Given the description of an element on the screen output the (x, y) to click on. 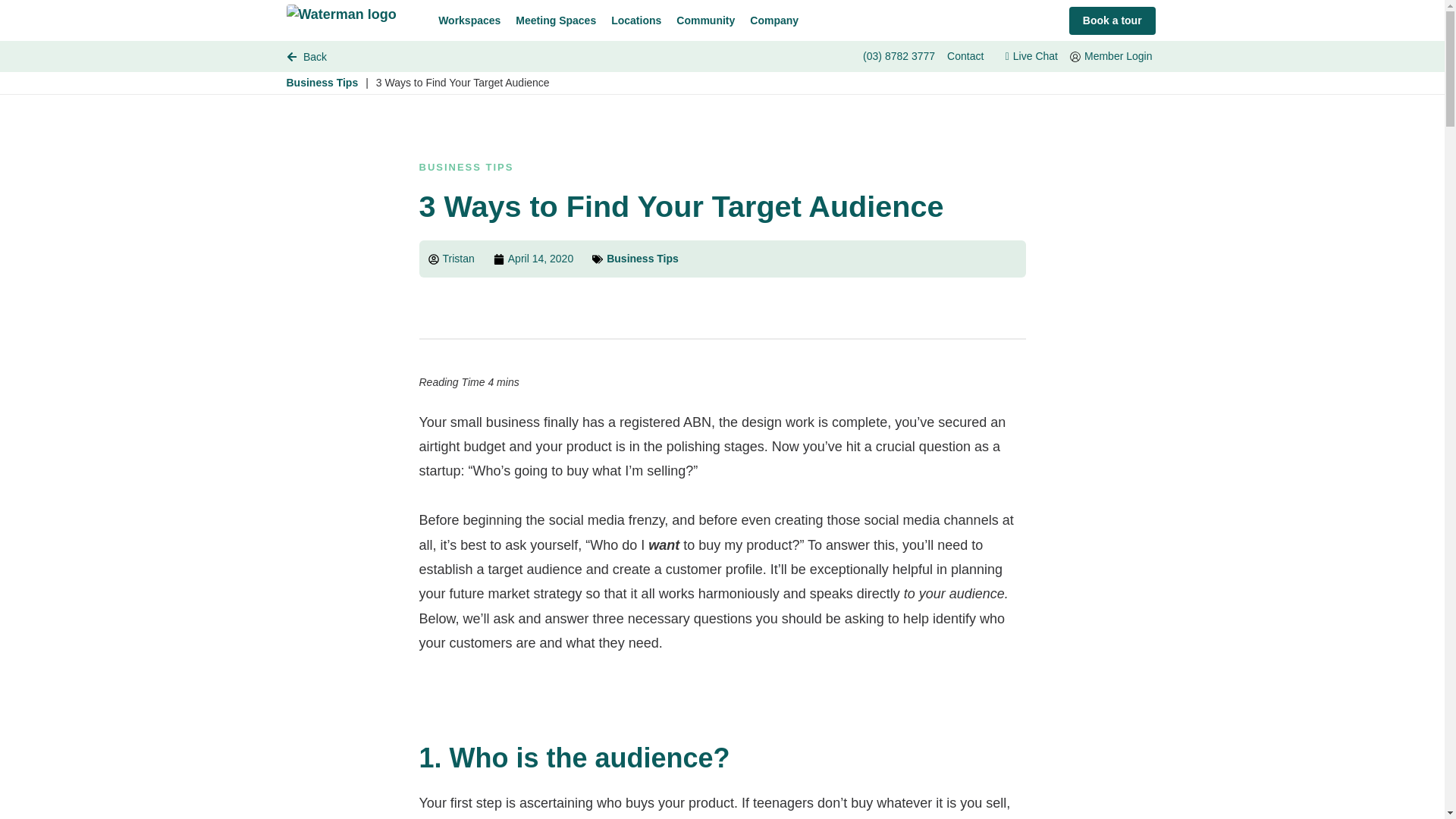
Locations (636, 20)
Workspaces (469, 20)
Meeting Spaces (556, 20)
Community (705, 20)
